Given the description of an element on the screen output the (x, y) to click on. 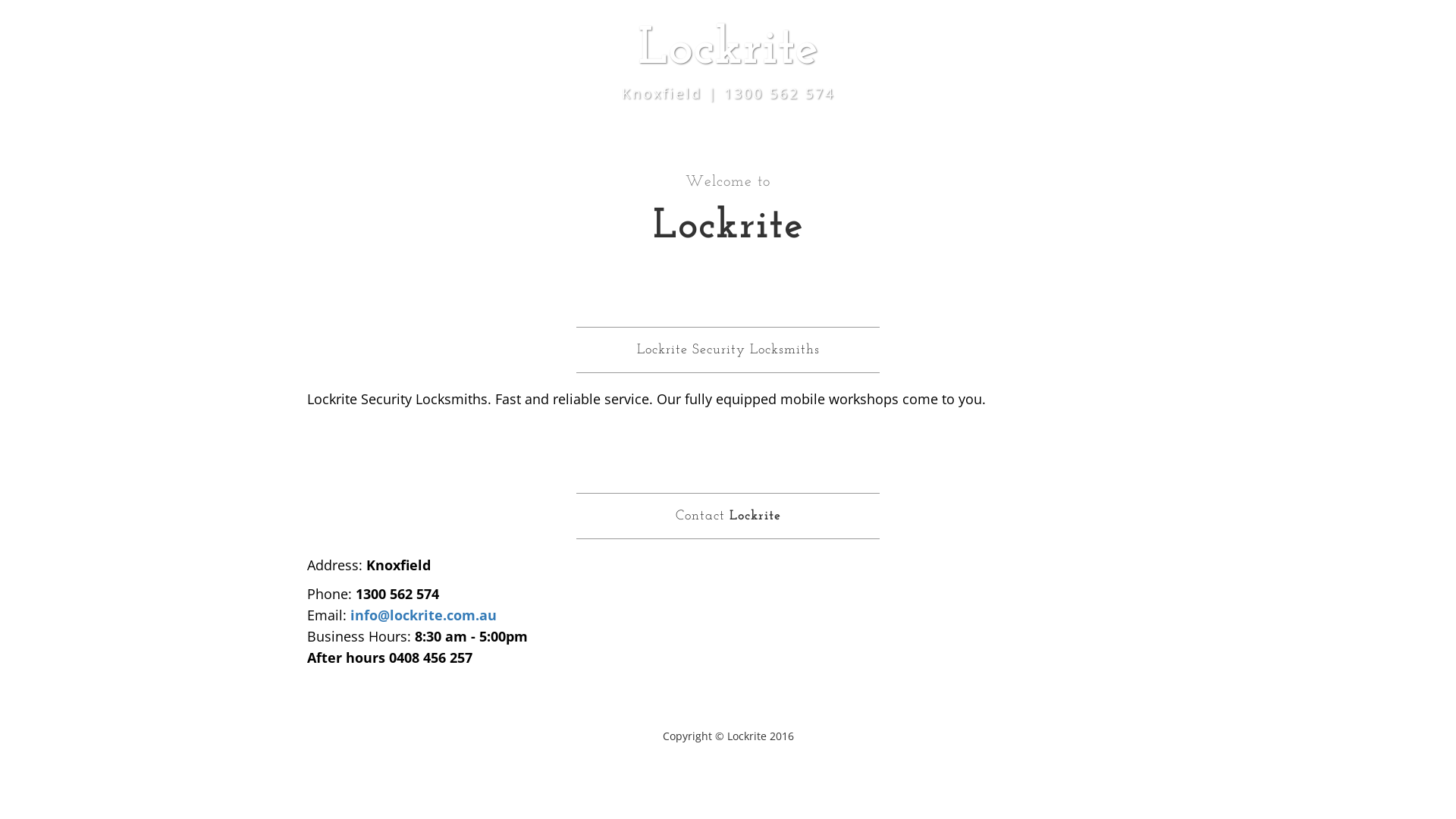
info@lockrite.com.au Element type: text (423, 614)
